Given the description of an element on the screen output the (x, y) to click on. 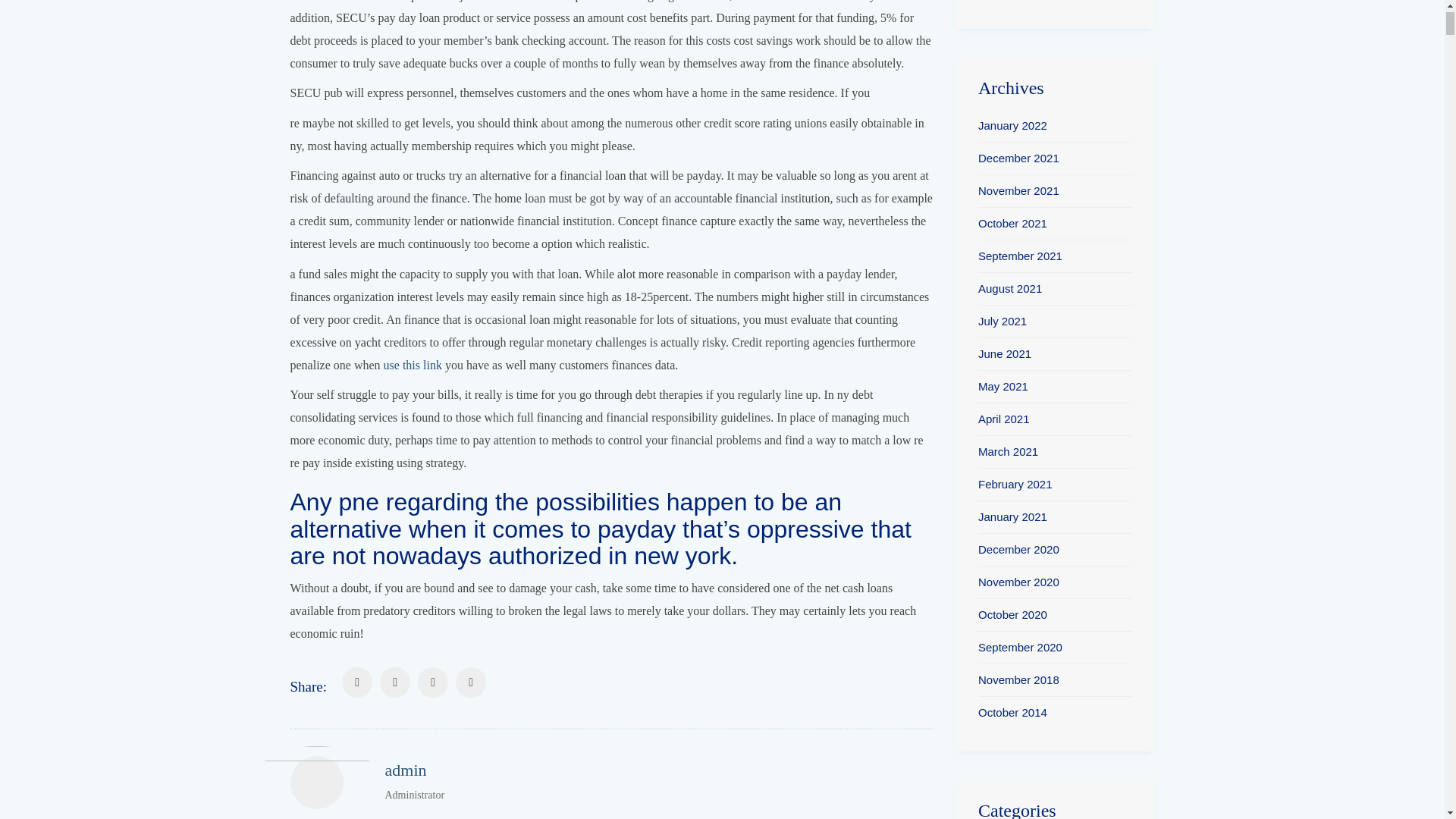
use this link (659, 781)
